Given the description of an element on the screen output the (x, y) to click on. 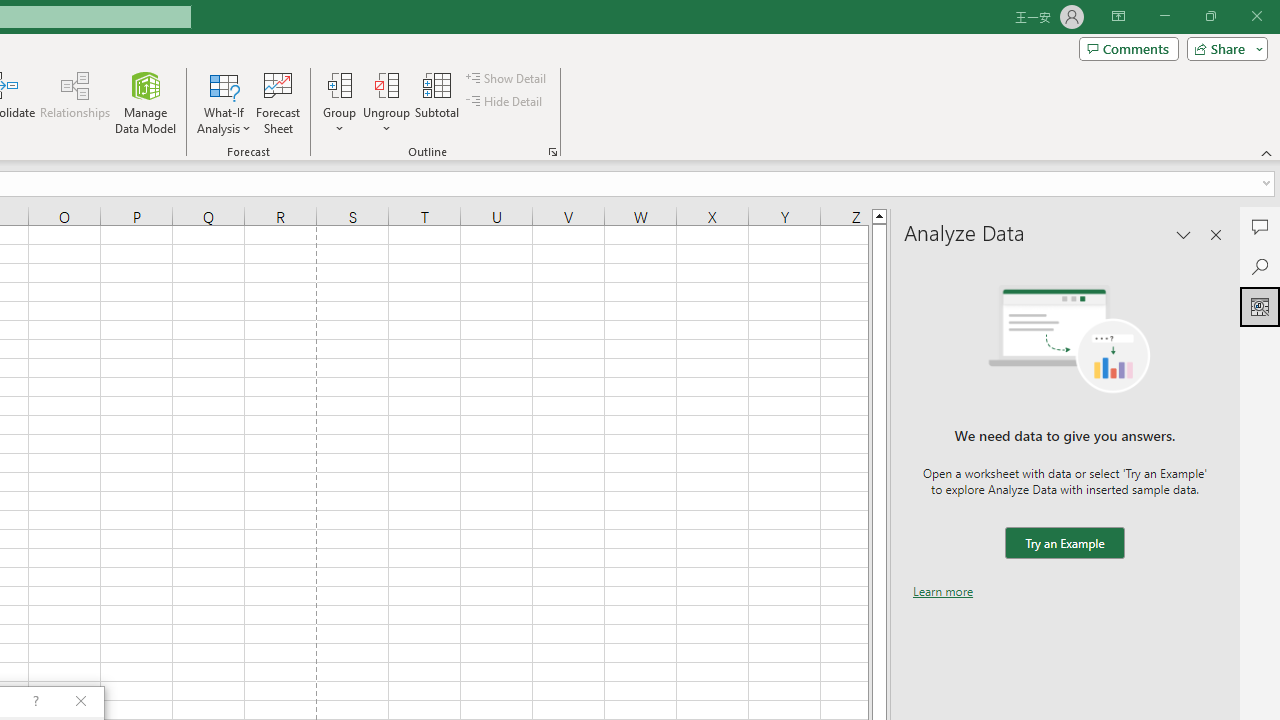
We need data to give you answers. Try an Example (1064, 543)
Share (1223, 48)
Search (1260, 266)
Line up (879, 215)
Collapse the Ribbon (1267, 152)
Forecast Sheet (278, 102)
Minimize (1164, 16)
Close (1256, 16)
Relationships (75, 102)
Close pane (1215, 234)
Hide Detail (505, 101)
Restore Down (1210, 16)
Group... (339, 102)
Group and Outline Settings (552, 151)
Comments (1260, 226)
